Given the description of an element on the screen output the (x, y) to click on. 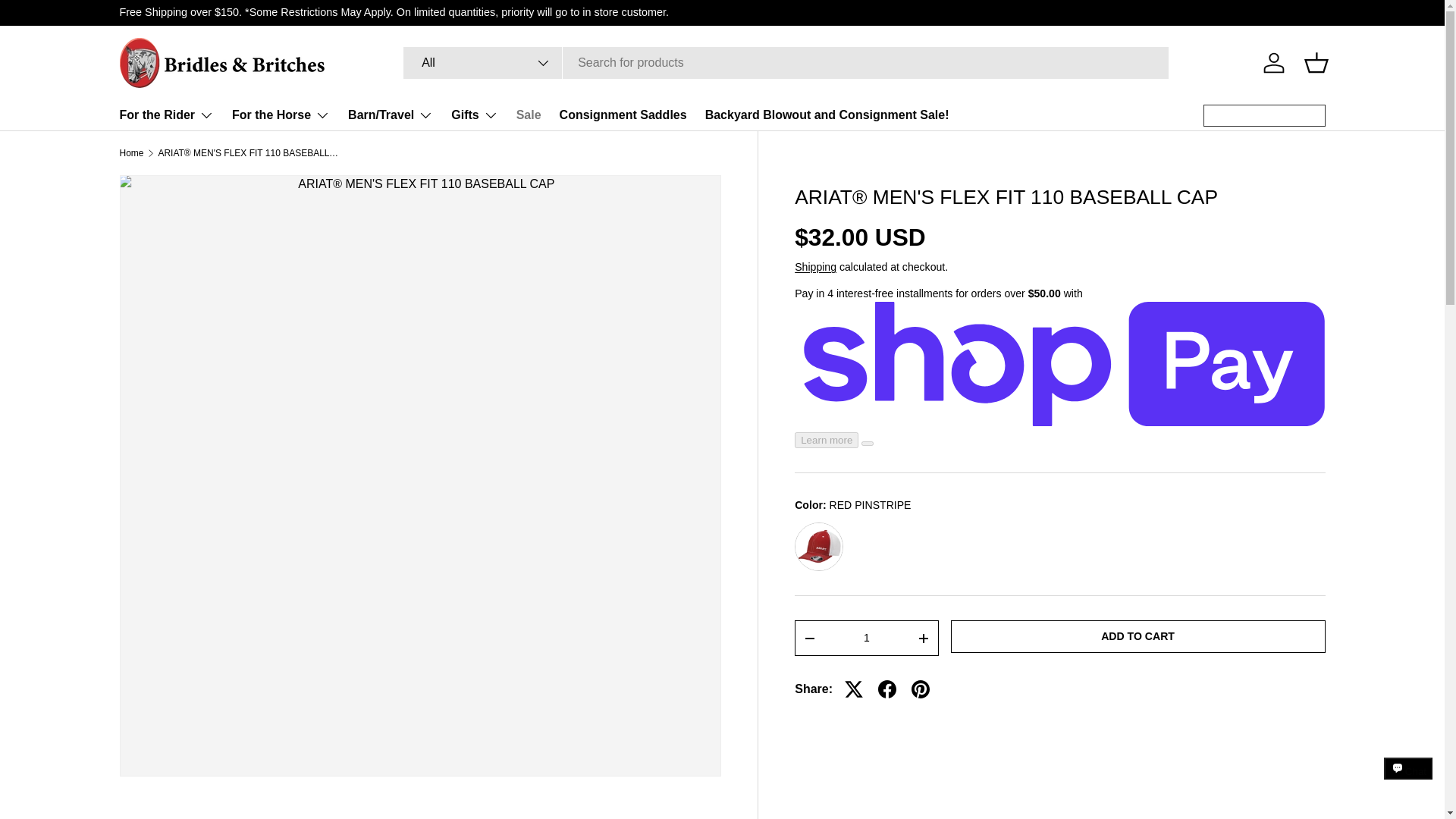
For the Rider (166, 114)
Tweet on X (853, 688)
Pin on Pinterest (920, 688)
Share on Facebook (887, 688)
All (482, 62)
Log in (1273, 62)
SKIP TO CONTENT (68, 21)
1 (866, 637)
Shopify online store chat (1408, 781)
